Given the description of an element on the screen output the (x, y) to click on. 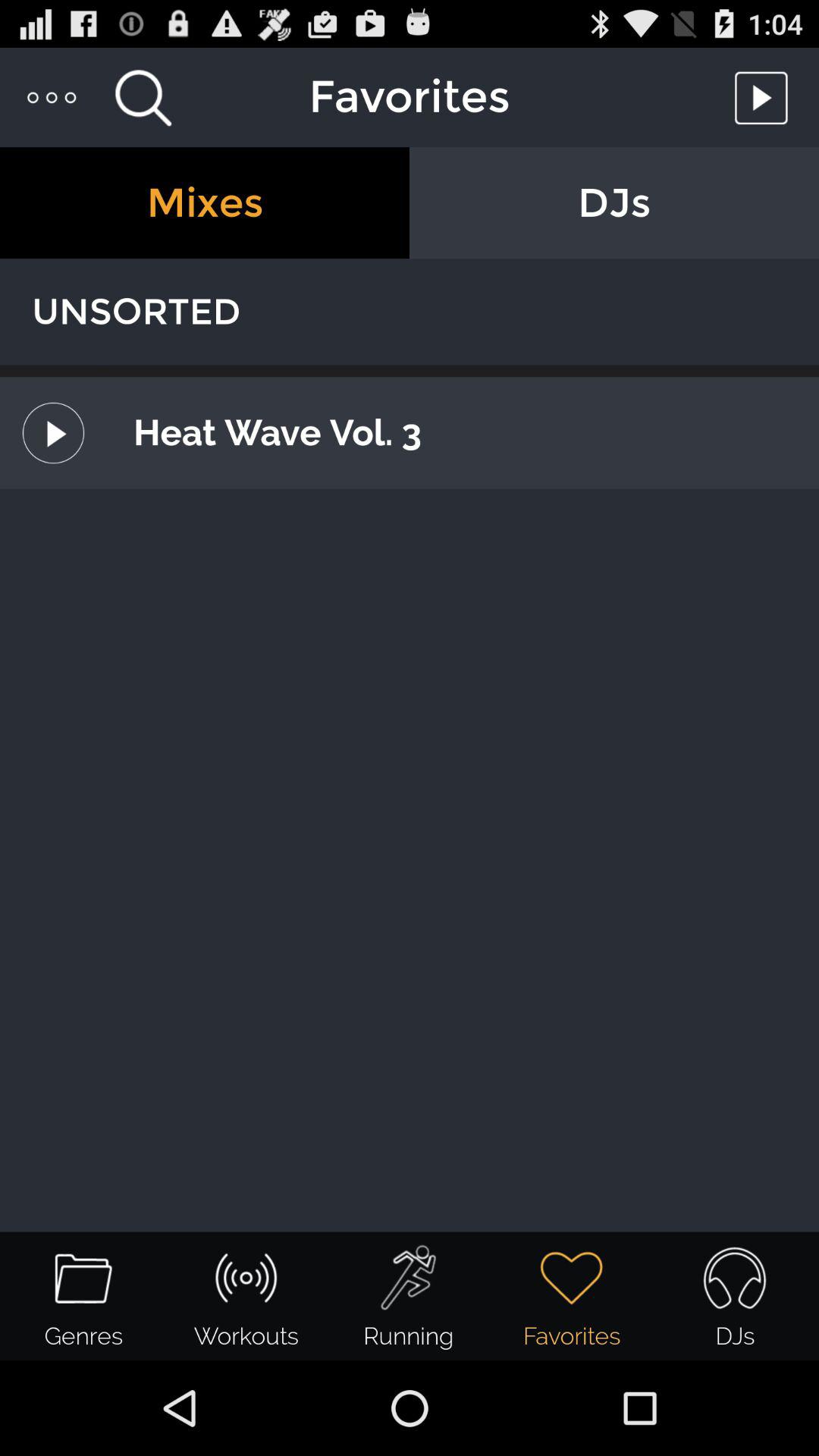
turn on the unsorted (409, 311)
